Given the description of an element on the screen output the (x, y) to click on. 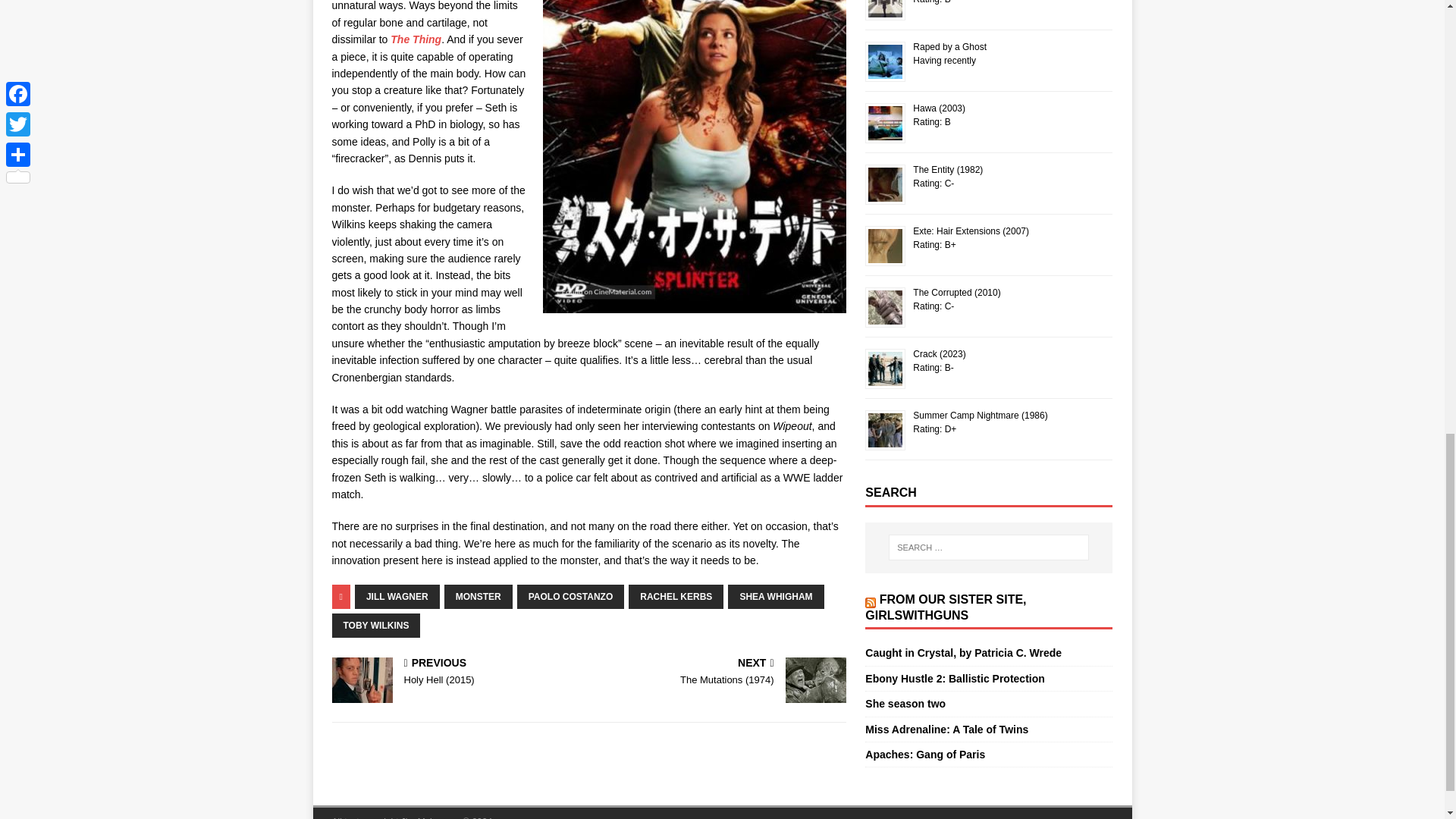
TOBY WILKINS (375, 625)
JILL WAGNER (397, 596)
RACHEL KERBS (675, 596)
MONSTER (478, 596)
The Thing (415, 39)
PAOLO COSTANZO (570, 596)
SHEA WHIGHAM (776, 596)
